Given the description of an element on the screen output the (x, y) to click on. 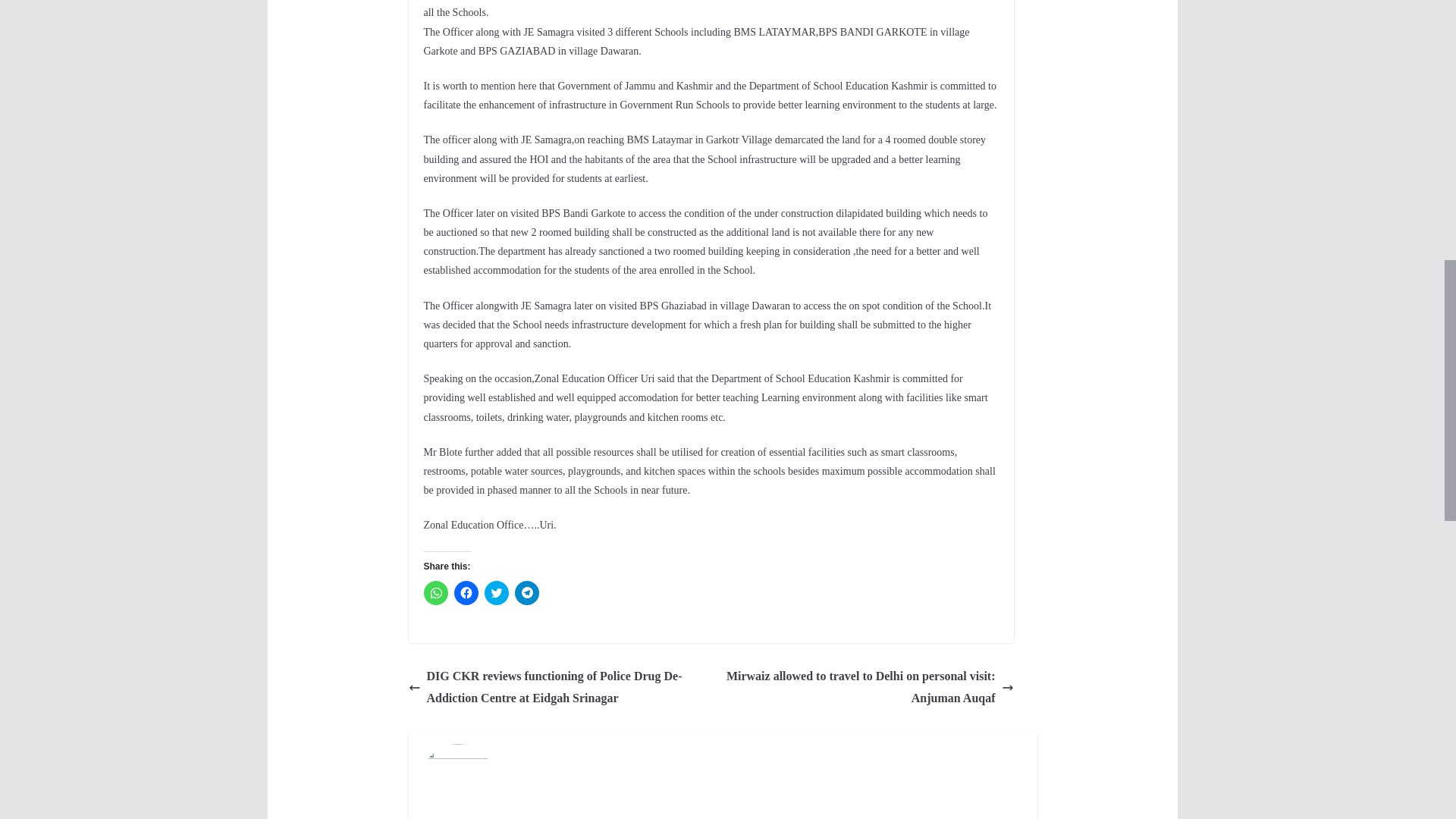
Click to share on WhatsApp (434, 592)
Click to share on Facebook (464, 592)
Click to share on Telegram (525, 592)
Click to share on Twitter (495, 592)
